Given the description of an element on the screen output the (x, y) to click on. 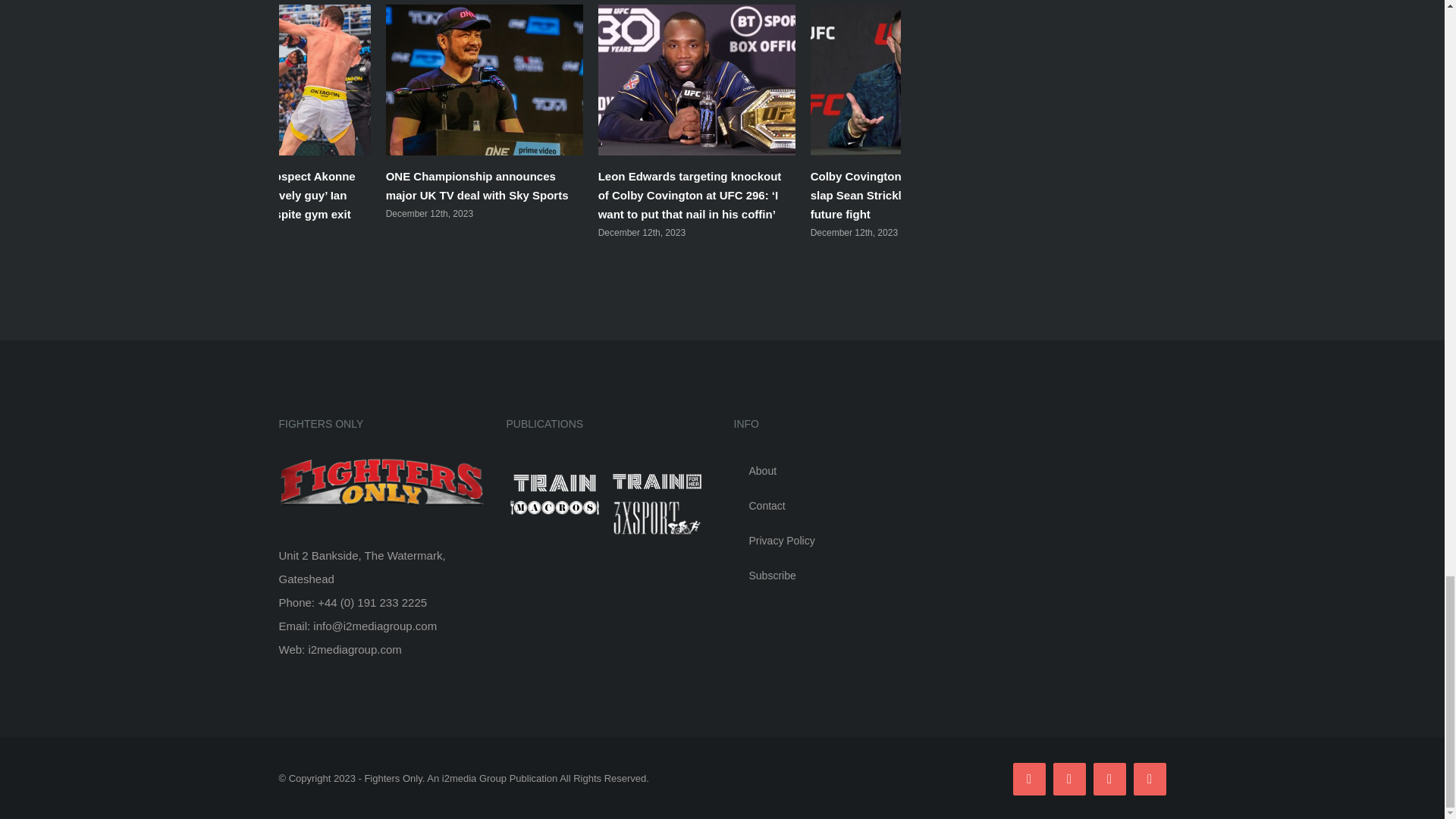
ONE Championship announces major UK TV deal with Sky Sports (477, 185)
ONE Championship announces major UK TV deal with Sky Sports (477, 185)
